Given the description of an element on the screen output the (x, y) to click on. 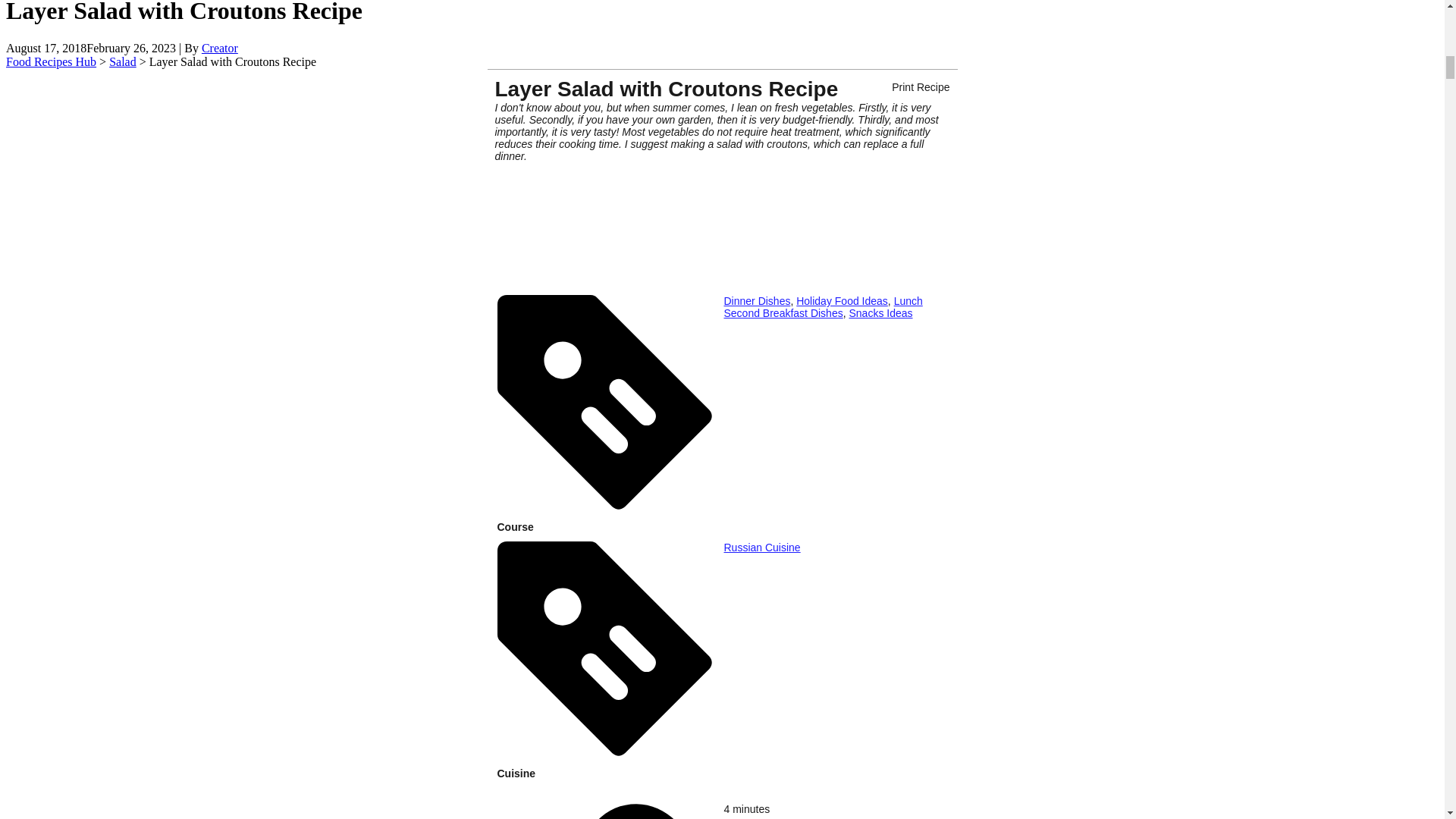
Layer Salad with Croutons Recipe (721, 222)
Layer Salad with Croutons Recipe (721, 271)
Go to the Salad category archives. (122, 61)
Go to Food Recipes Hub. (50, 61)
